Given the description of an element on the screen output the (x, y) to click on. 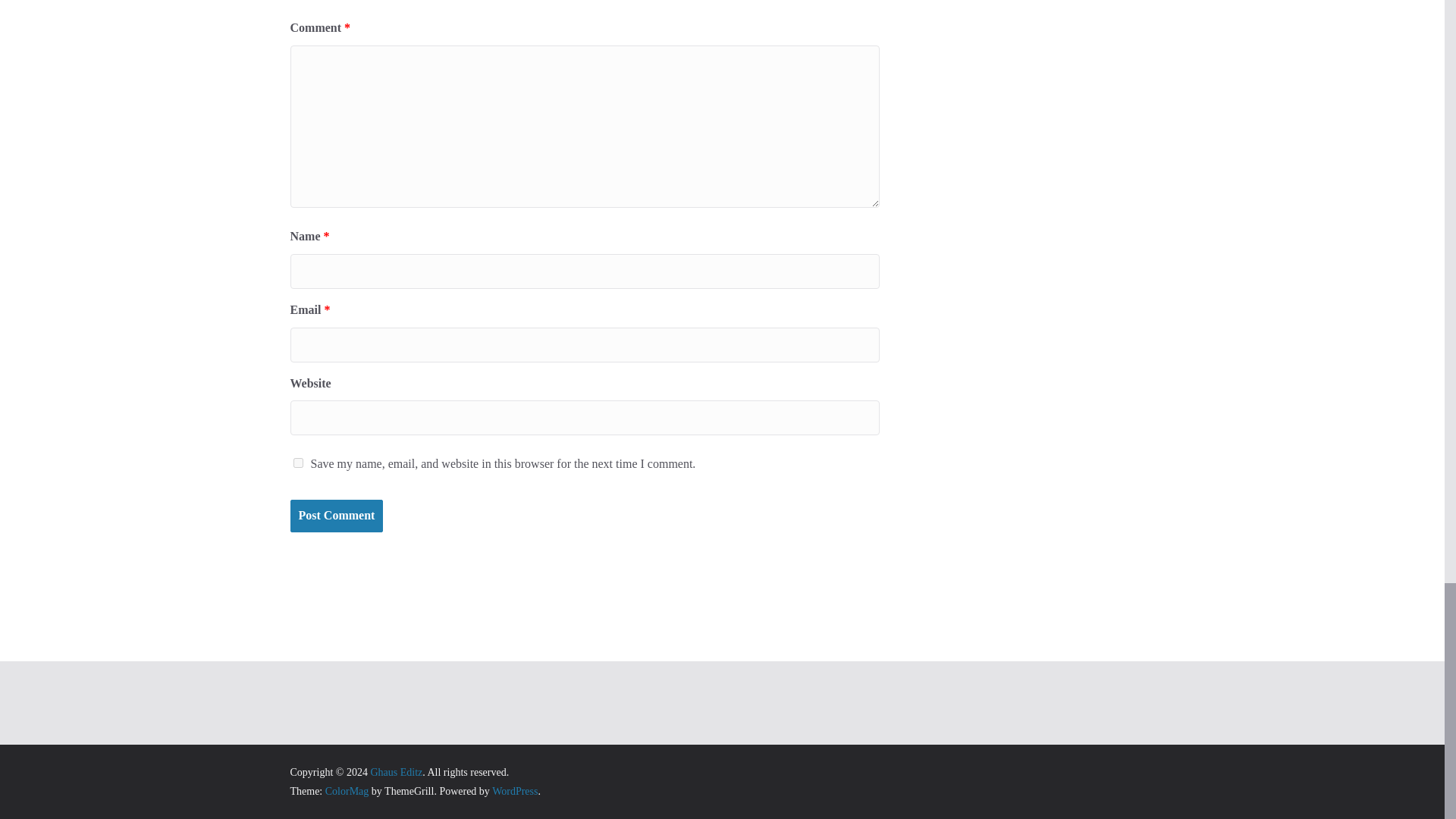
Advertisement (721, 573)
Ghaus Editz (395, 772)
Advertisement (721, 703)
Post Comment (335, 515)
Post Comment (335, 515)
yes (297, 462)
WordPress (514, 790)
ColorMag (346, 790)
